Given the description of an element on the screen output the (x, y) to click on. 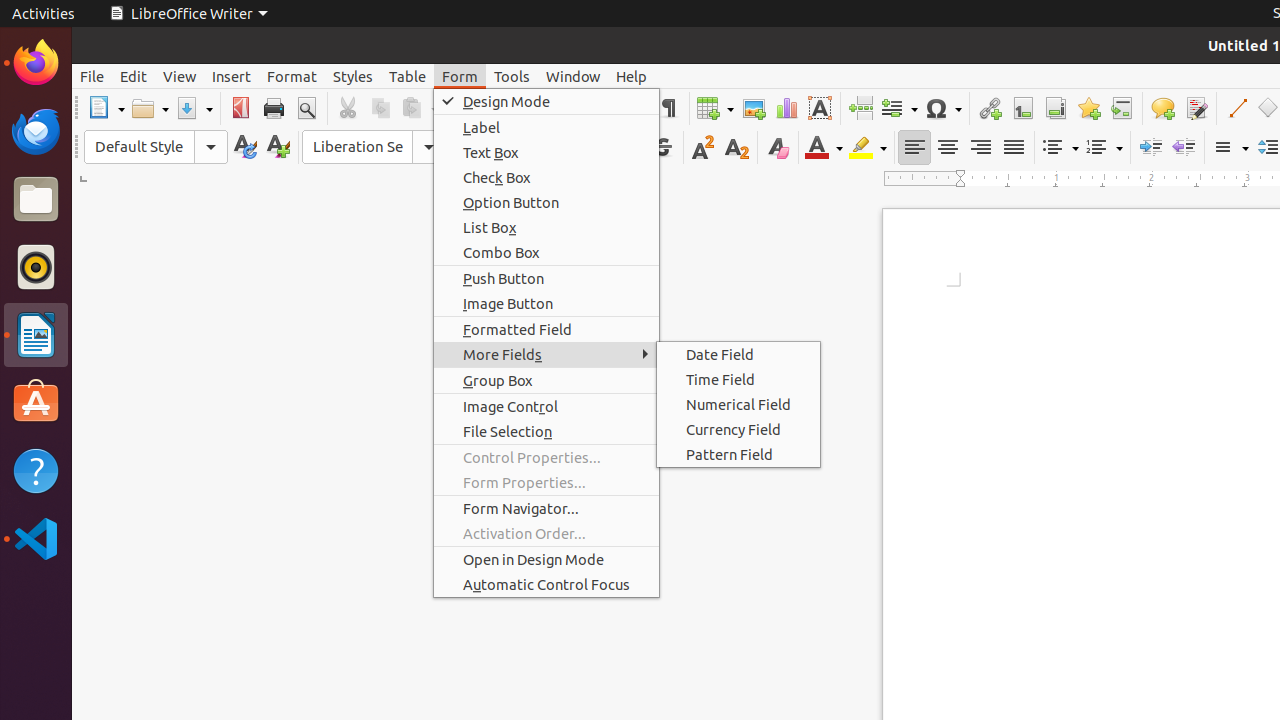
Superscript Element type: toggle-button (703, 147)
Bullets Element type: push-button (1060, 147)
Symbol Element type: push-button (943, 108)
Control Properties... Element type: menu-item (546, 457)
Text Box Element type: push-button (819, 108)
